Given the description of an element on the screen output the (x, y) to click on. 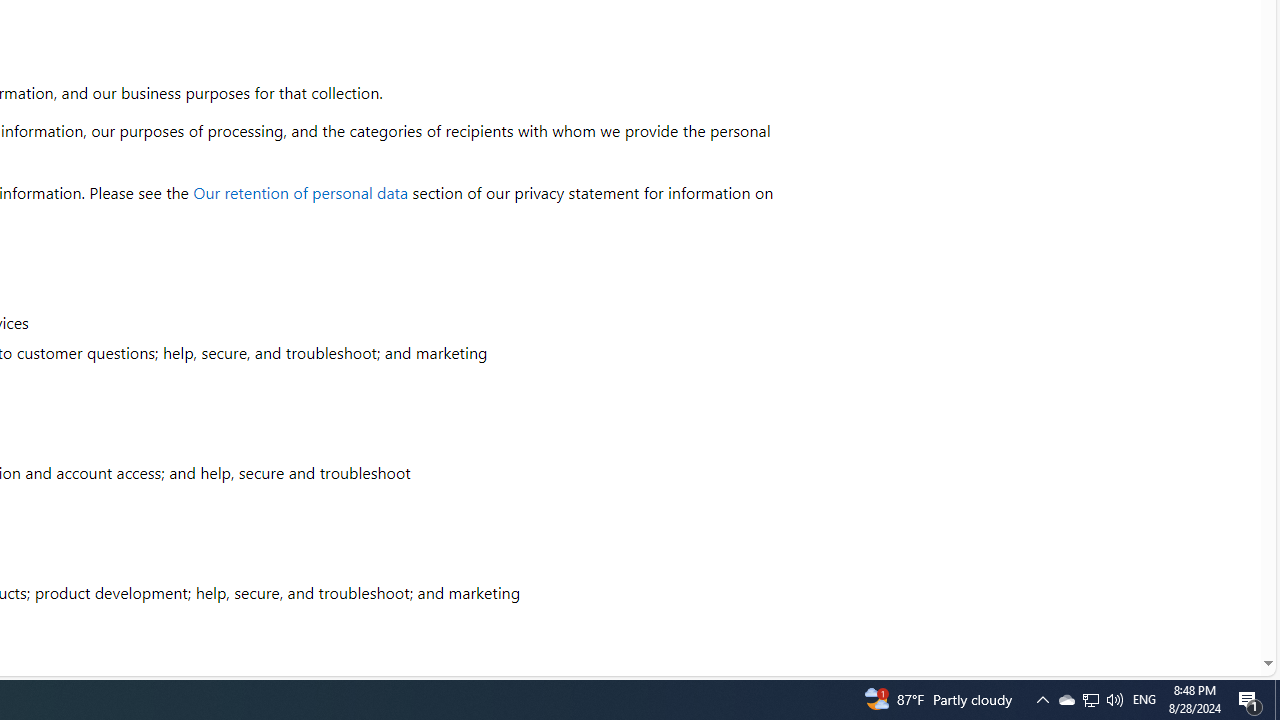
Our retention of personal data (301, 192)
